Given the description of an element on the screen output the (x, y) to click on. 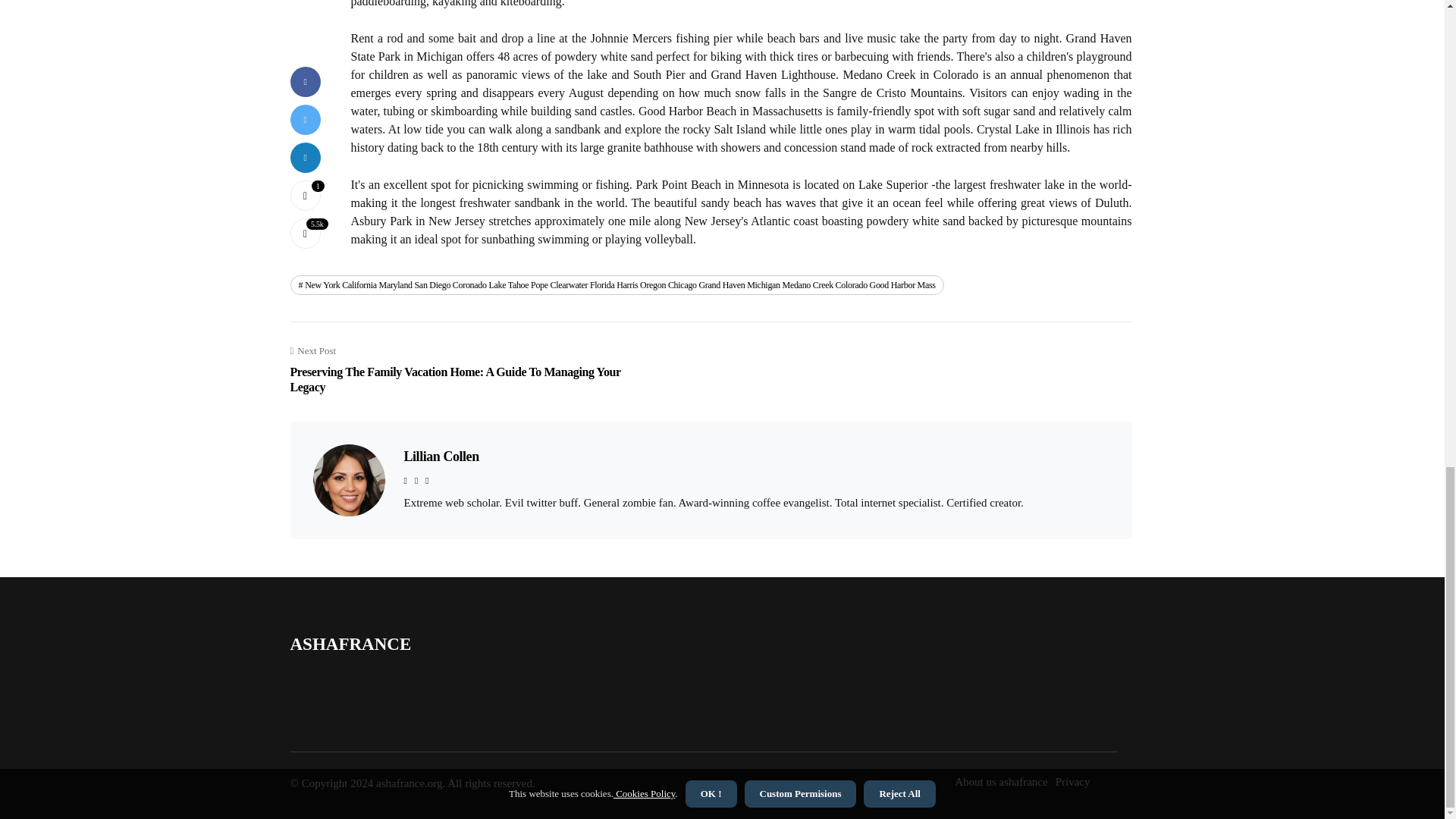
Lillian Collen (441, 456)
